Given the description of an element on the screen output the (x, y) to click on. 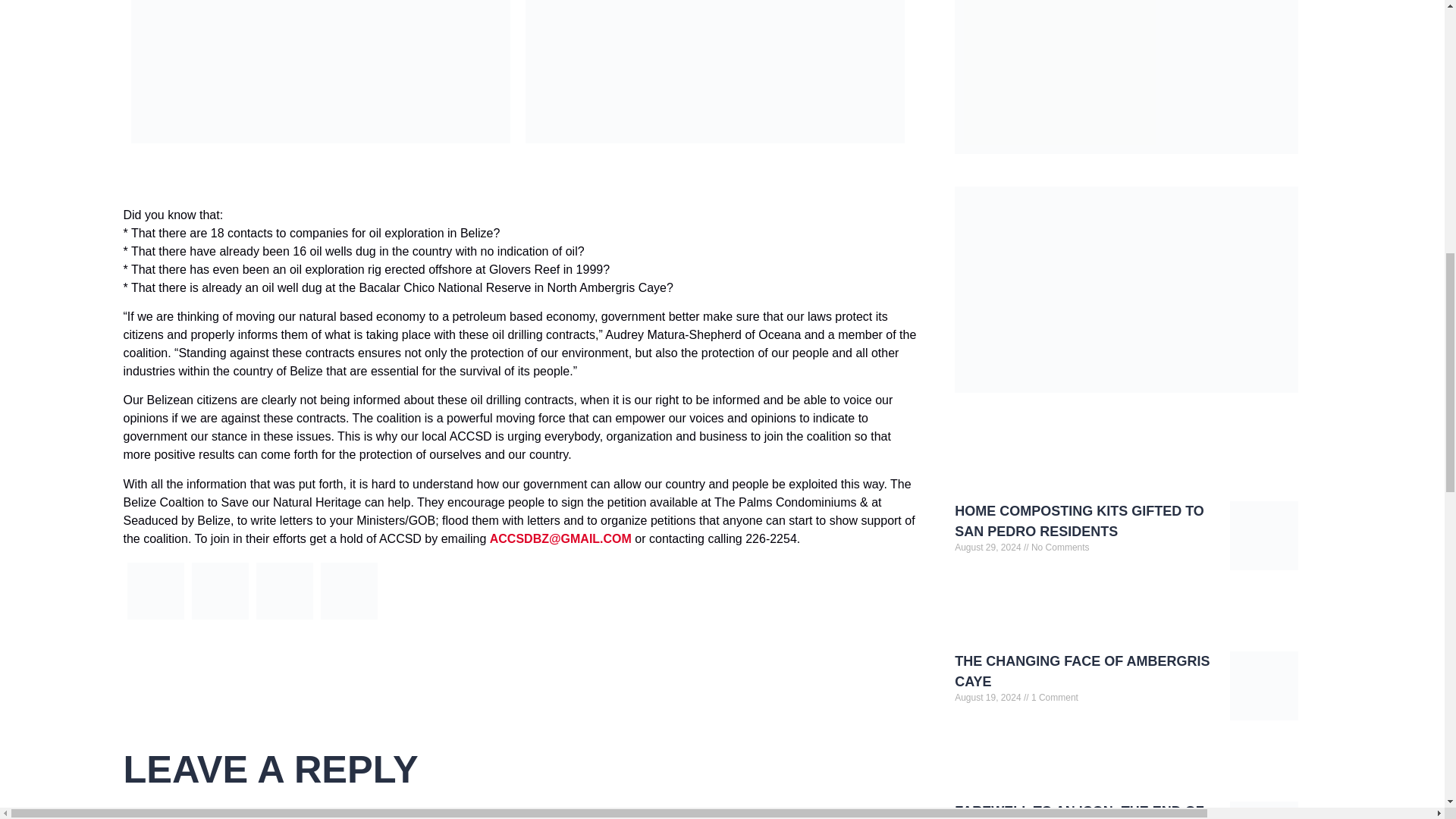
Coalition Against Offshore Drilling Meets with Residents 2 (218, 590)
Audrey Matura (219, 618)
Coalition Against Offshore Drilling Meets with Residents 1 (156, 590)
Coalition Against Offshore Drilling Meets with Residents (349, 618)
Coalition Against Offshore Drilling Meets with Residents (154, 618)
Coalition Against Offshore Drilling Meets with Residents (283, 618)
Coalition Against Offshore Drilling Meets with Residents 3 (284, 590)
Coalition Against Offshore Drilling Meets with Residents 4 (348, 590)
